Given the description of an element on the screen output the (x, y) to click on. 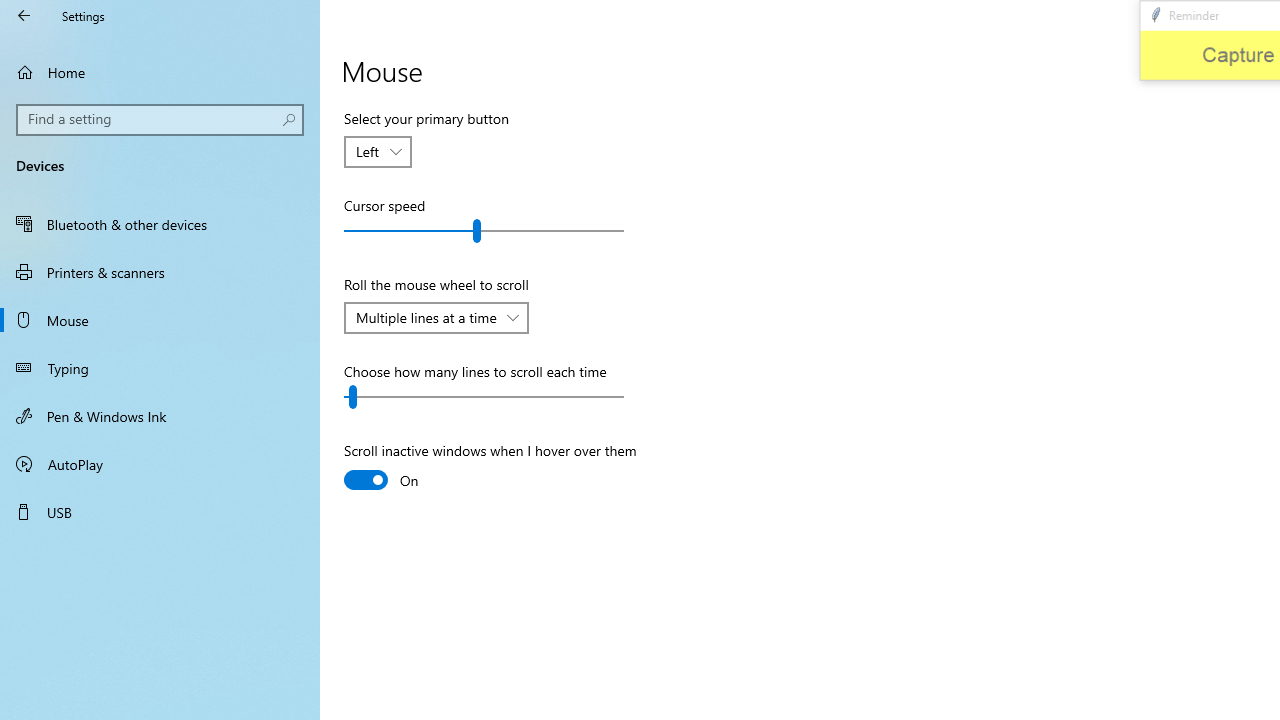
Cursor speed (484, 230)
Choose how many lines to scroll each time (484, 396)
Pen & Windows Ink (160, 415)
Multiple lines at a time (425, 317)
Scroll inactive windows when I hover over them (490, 468)
Typing (160, 367)
Roll the mouse wheel to scroll (436, 317)
AutoPlay (160, 463)
Home (160, 71)
Left (367, 151)
Select your primary button (378, 151)
Printers & scanners (160, 271)
USB (160, 511)
Search box, Find a setting (160, 119)
Bluetooth & other devices (160, 223)
